Given the description of an element on the screen output the (x, y) to click on. 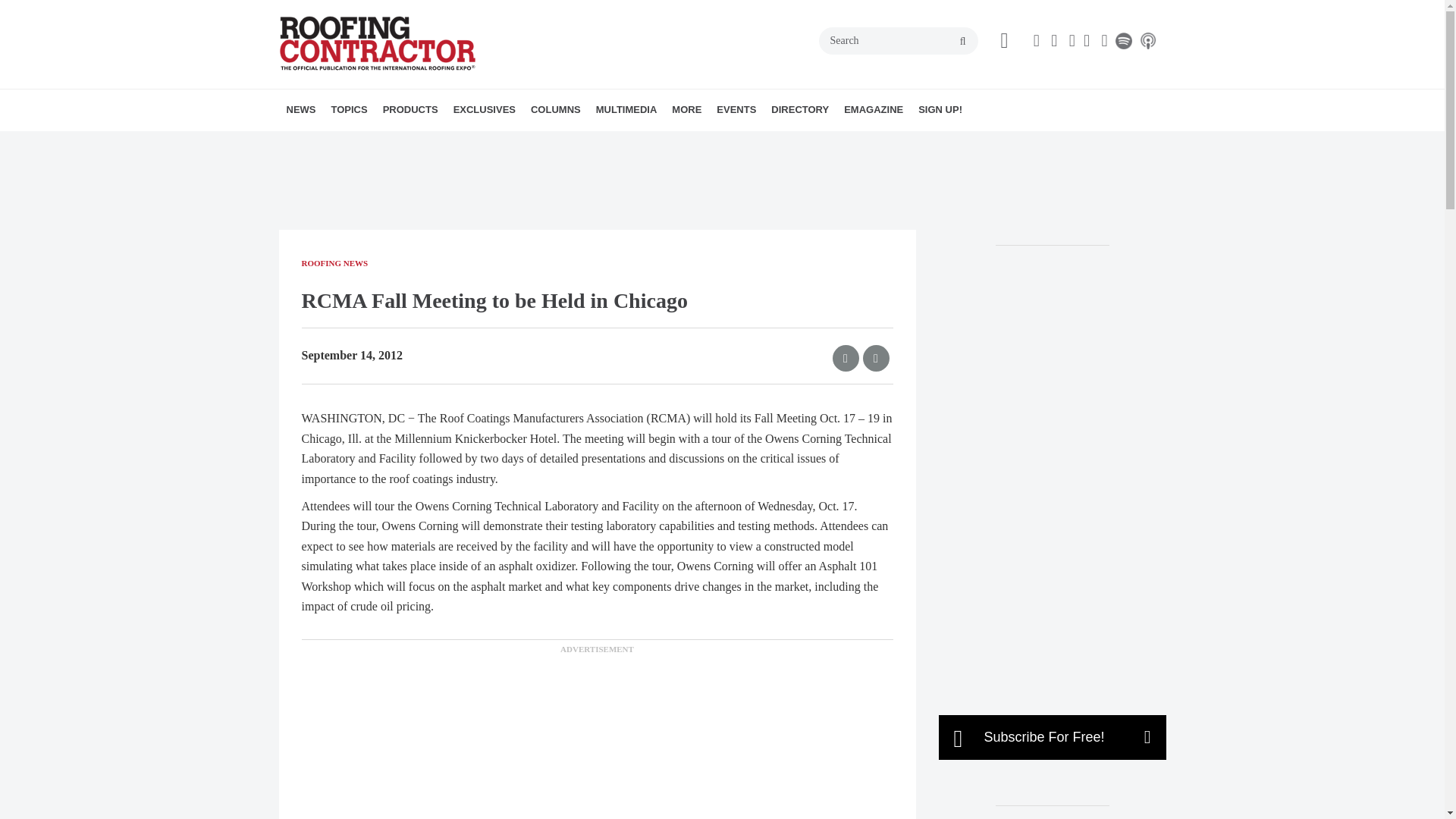
PRODUCTS (410, 109)
Search (898, 40)
METAL (442, 143)
COOL ROOFING (417, 143)
TECHNOLOGY (461, 143)
PROJECT PROFILES (445, 143)
EXCLUSIVES (483, 109)
LOW SLOPE (436, 143)
SUSTAINABLE ROOFING (458, 143)
NEW PRODUCTS (469, 143)
CONTRACTOR PROFILE (547, 143)
BEST OF SUCCESS (539, 143)
TOPICS (348, 109)
ROOFING SUPPLY PRO (449, 143)
ROOFING CONTRACTOR OF THE YEAR (558, 152)
